Given the description of an element on the screen output the (x, y) to click on. 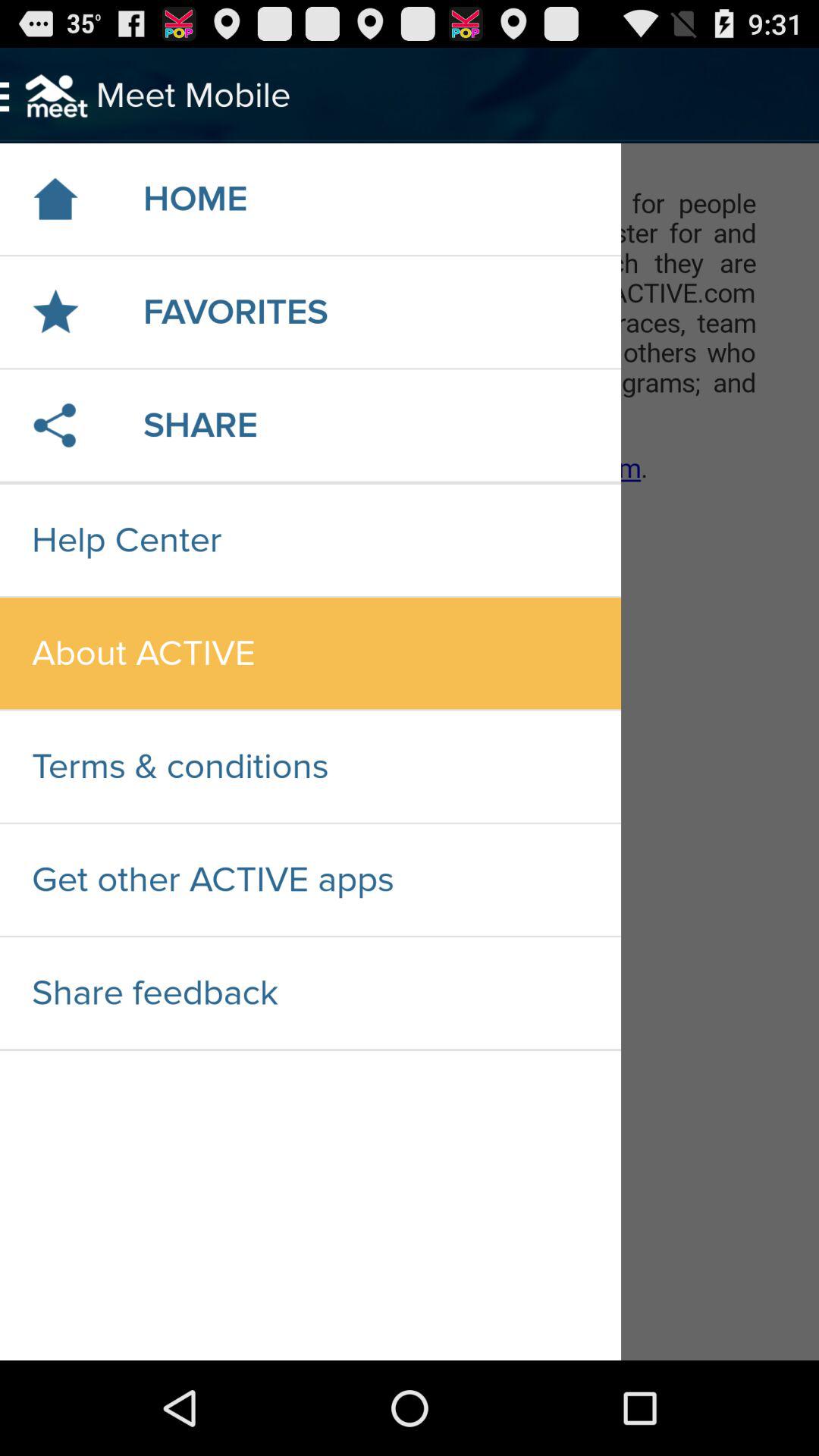
jump until about active icon (310, 653)
